Given the description of an element on the screen output the (x, y) to click on. 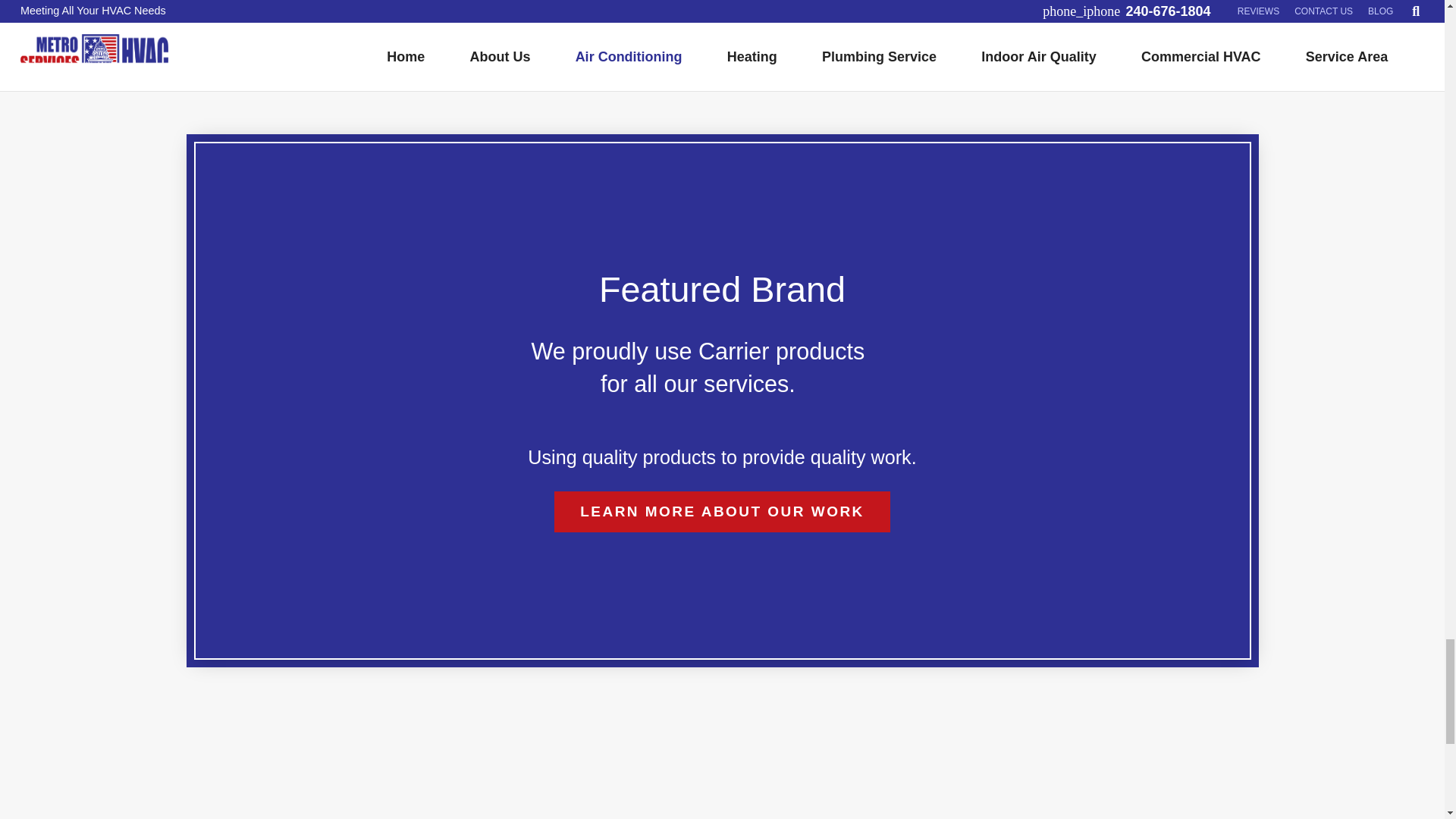
About Us (721, 511)
